Given the description of an element on the screen output the (x, y) to click on. 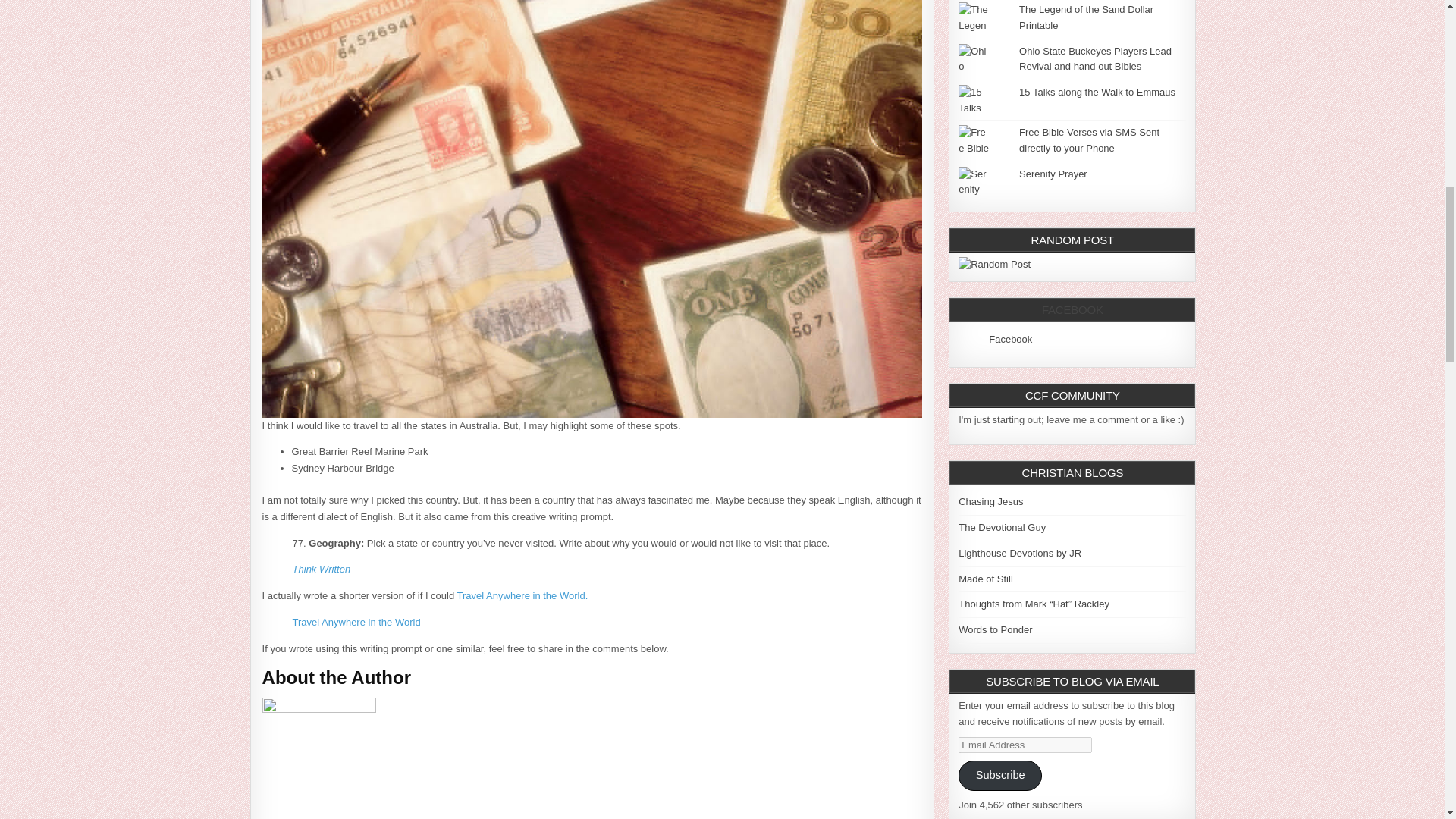
Travel Anywhere in the World. (522, 595)
Think Written (321, 568)
Travel Anywhere in the World (356, 622)
